Given the description of an element on the screen output the (x, y) to click on. 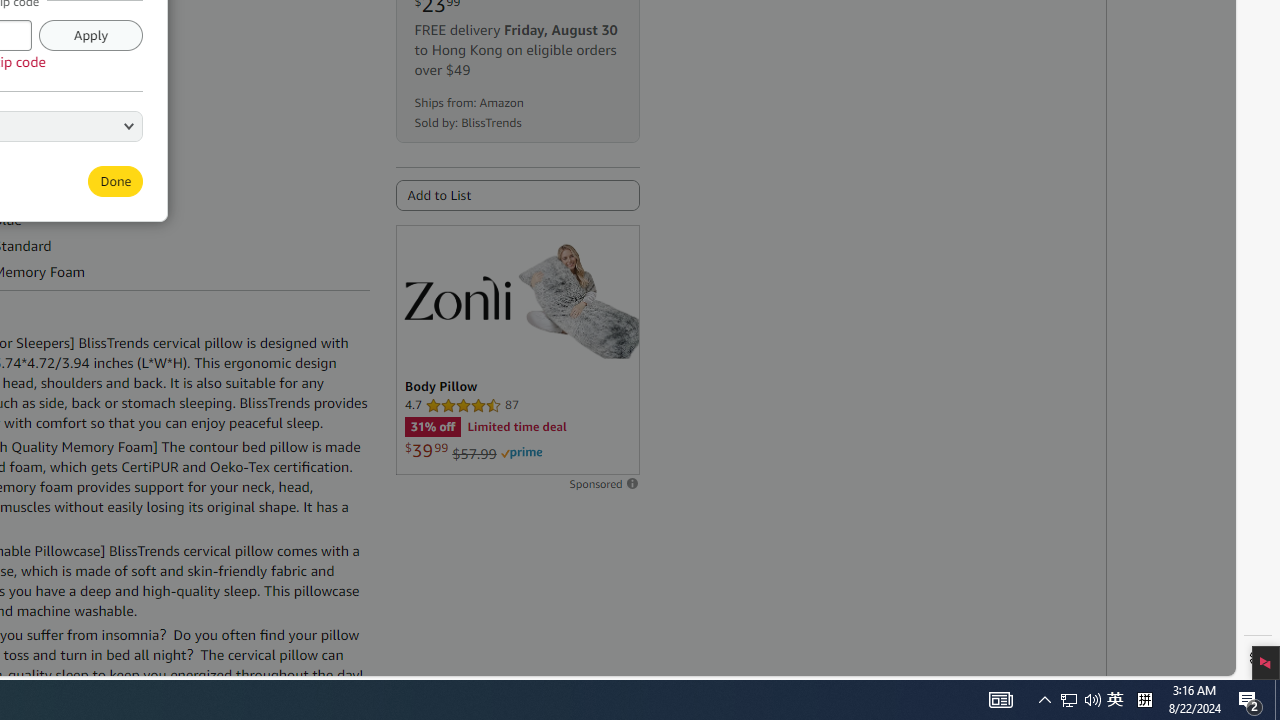
Done (115, 180)
King (50, 123)
Apply (90, 34)
Prime (521, 453)
Sponsored ad (516, 349)
Logo (456, 297)
Add to List (516, 195)
